Given the description of an element on the screen output the (x, y) to click on. 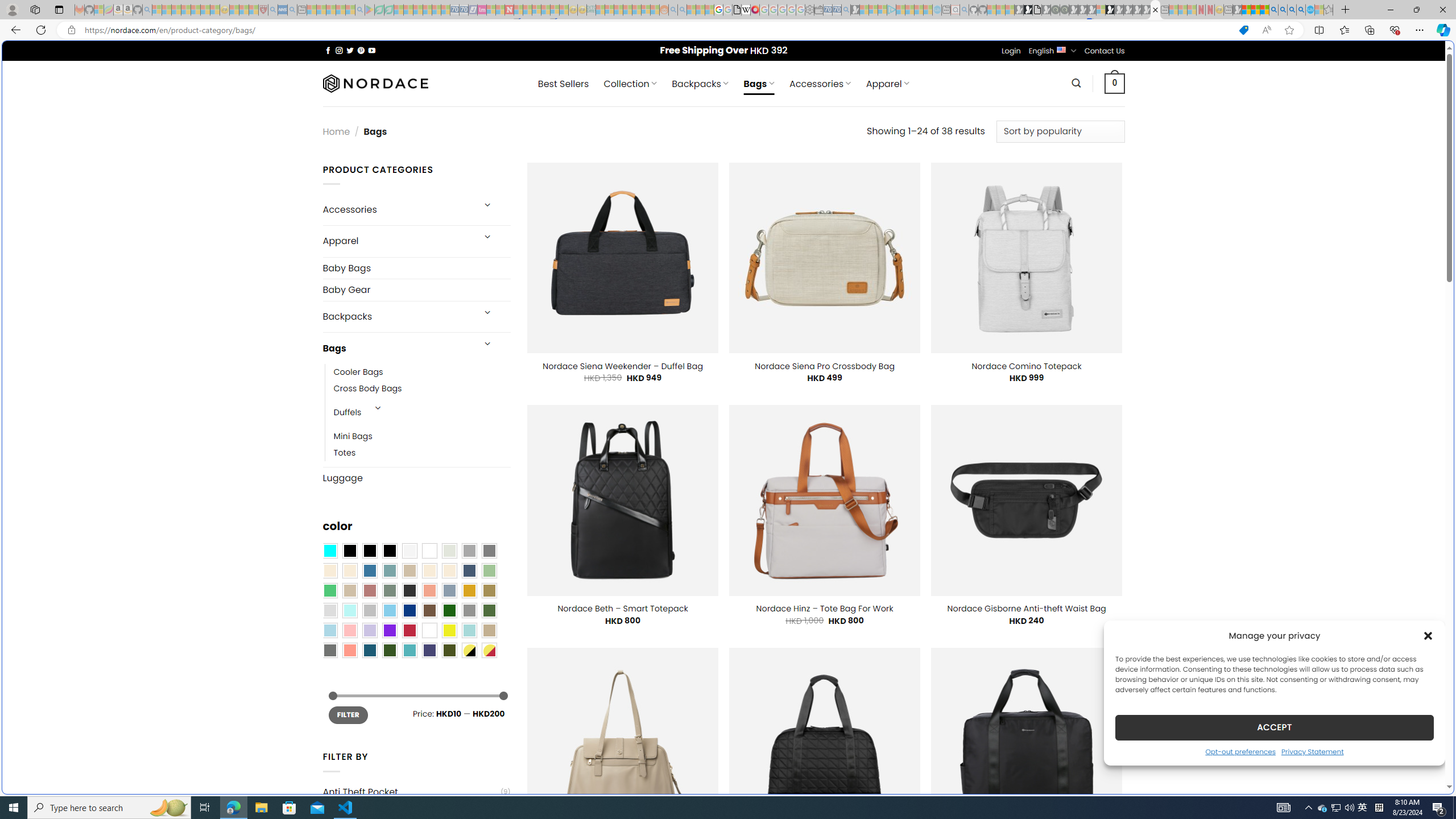
Light Gray (329, 610)
Capri Blue (369, 649)
Totes (344, 452)
Apparel (397, 241)
Gray (468, 610)
Light Green (488, 570)
